Given the description of an element on the screen output the (x, y) to click on. 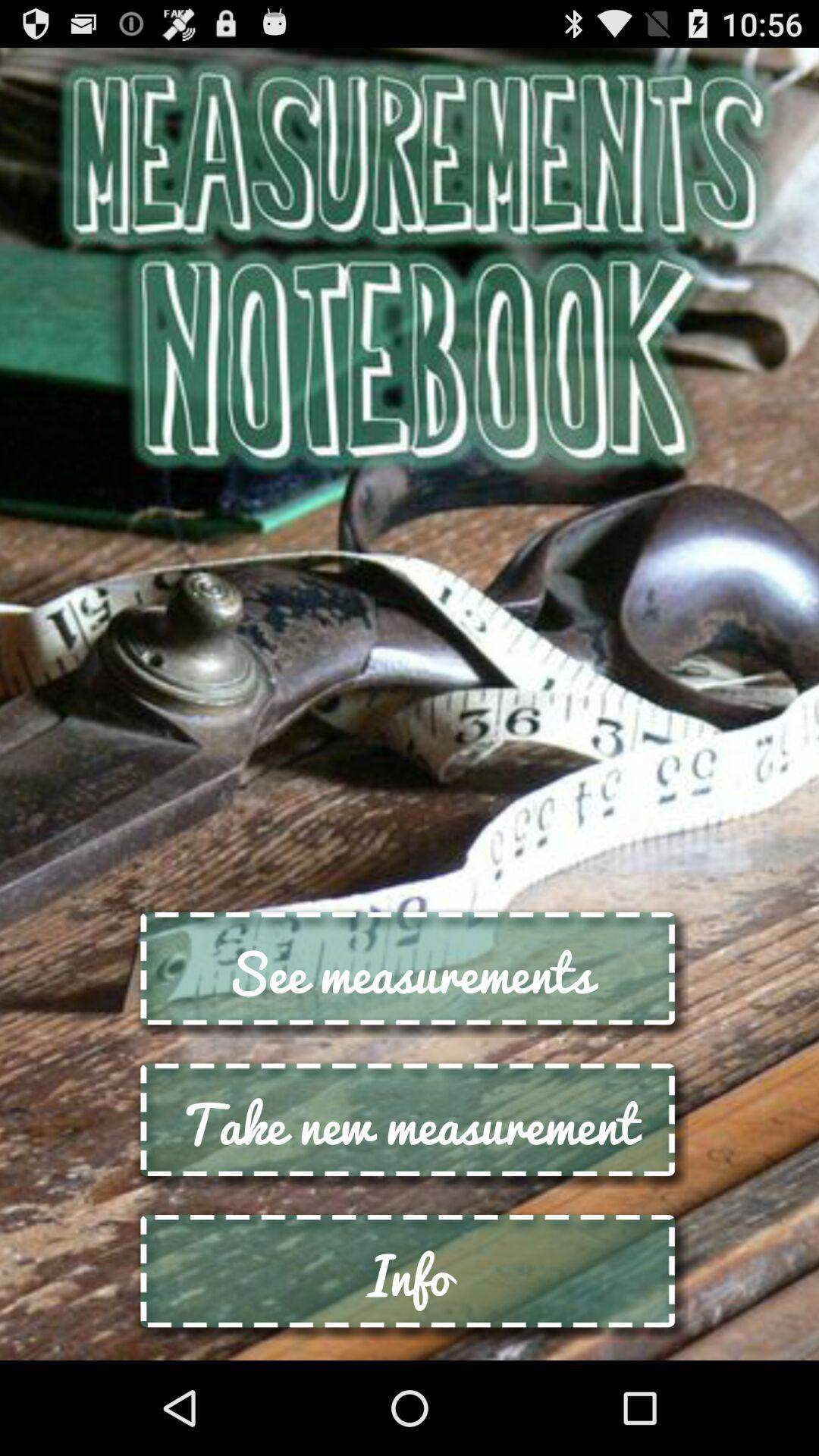
scroll to the take new measurement (409, 1123)
